Given the description of an element on the screen output the (x, y) to click on. 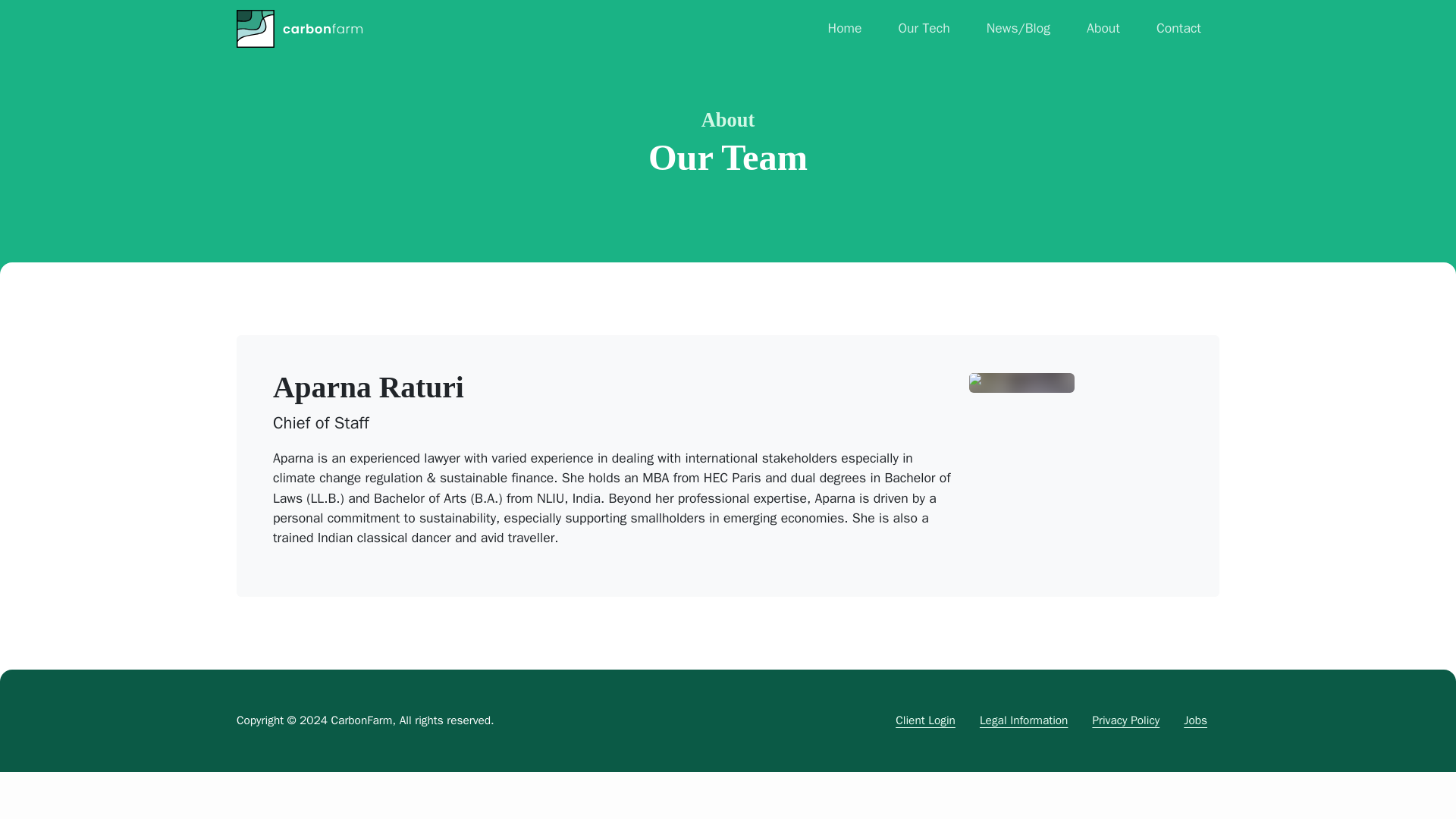
About (1103, 28)
Legal Information (1024, 720)
Home (844, 28)
About (727, 119)
Client Login (925, 720)
Contact (1179, 28)
Our Tech (924, 28)
Jobs (1196, 720)
Privacy Policy (1126, 720)
